Given the description of an element on the screen output the (x, y) to click on. 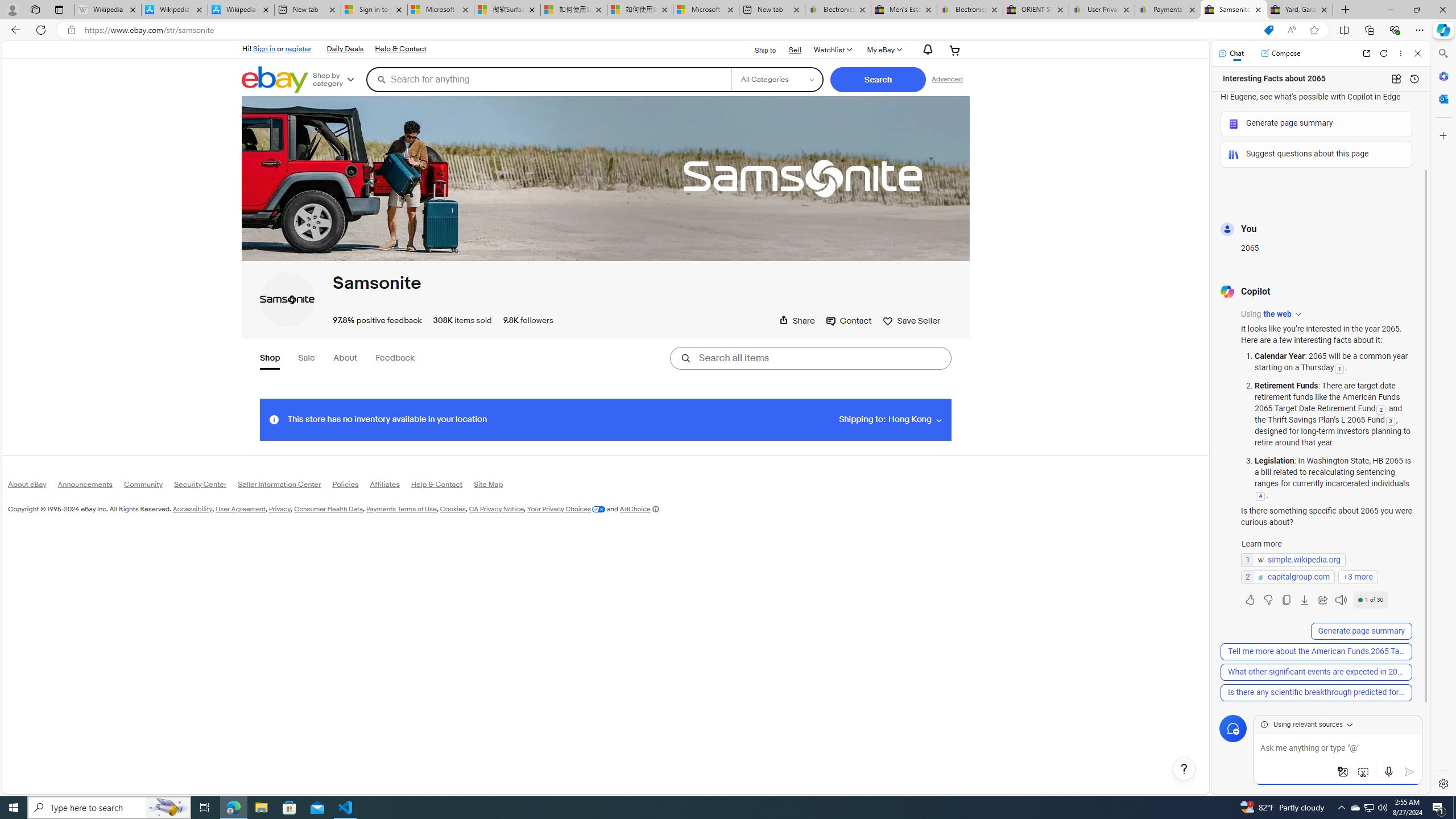
register (298, 48)
Site Map (494, 486)
97.8% positive feedback (377, 320)
Chat (1231, 52)
